Given the description of an element on the screen output the (x, y) to click on. 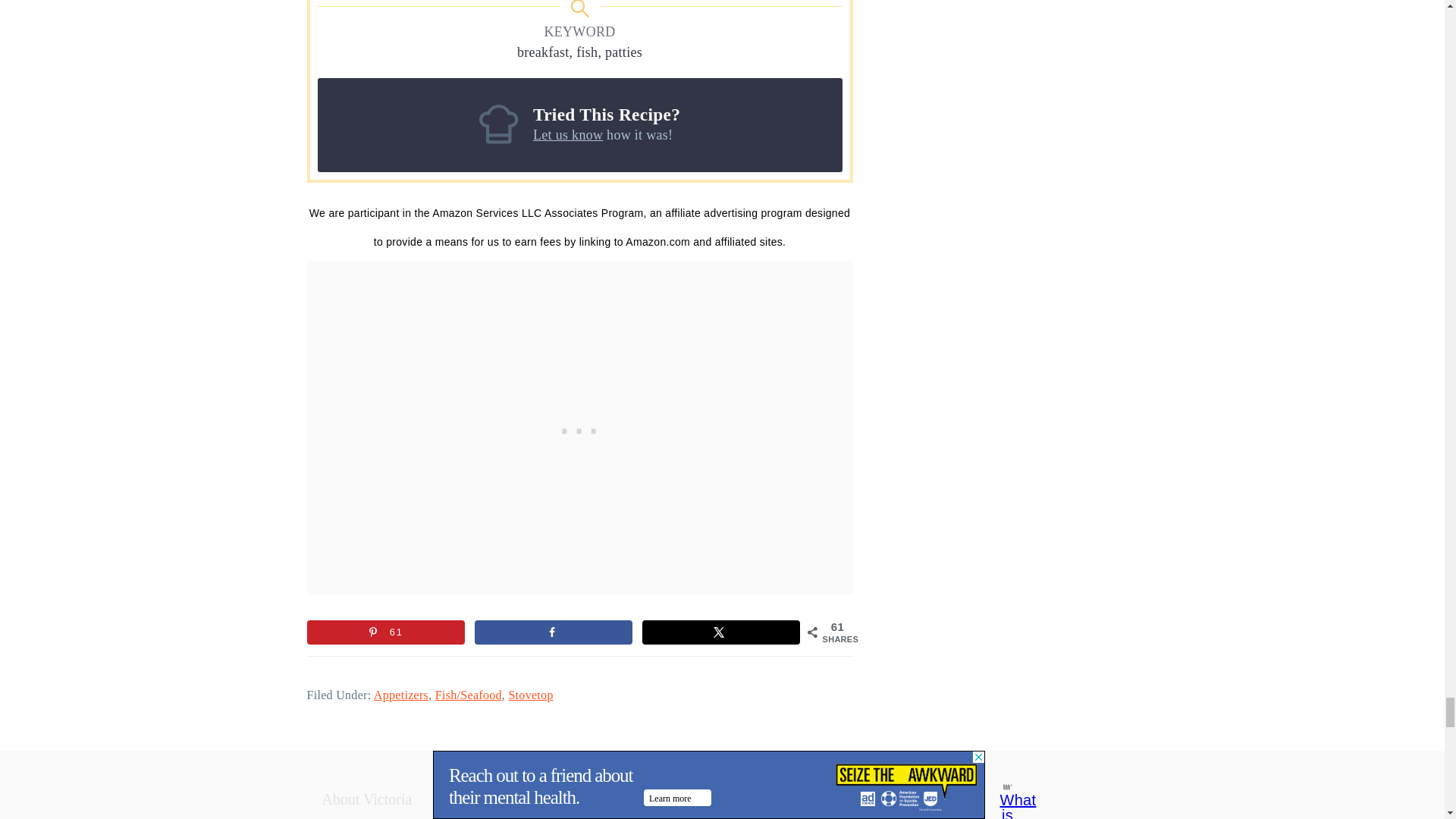
Share on Facebook (552, 631)
Share on X (720, 631)
Save to Pinterest (384, 631)
